Given the description of an element on the screen output the (x, y) to click on. 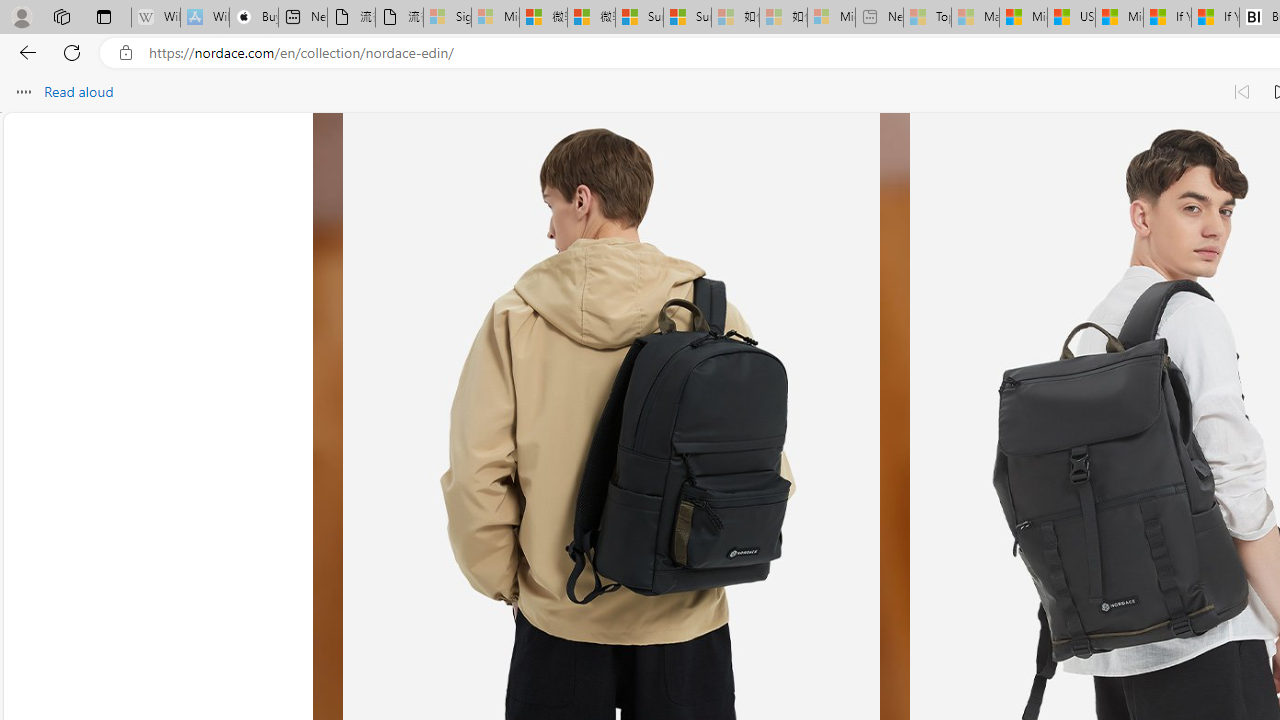
New tab (302, 17)
Workspaces (61, 16)
Refresh (72, 52)
Back (24, 52)
View site information (125, 53)
Read previous paragraph (1241, 92)
Sign in to your Microsoft account - Sleeping (447, 17)
